Given the description of an element on the screen output the (x, y) to click on. 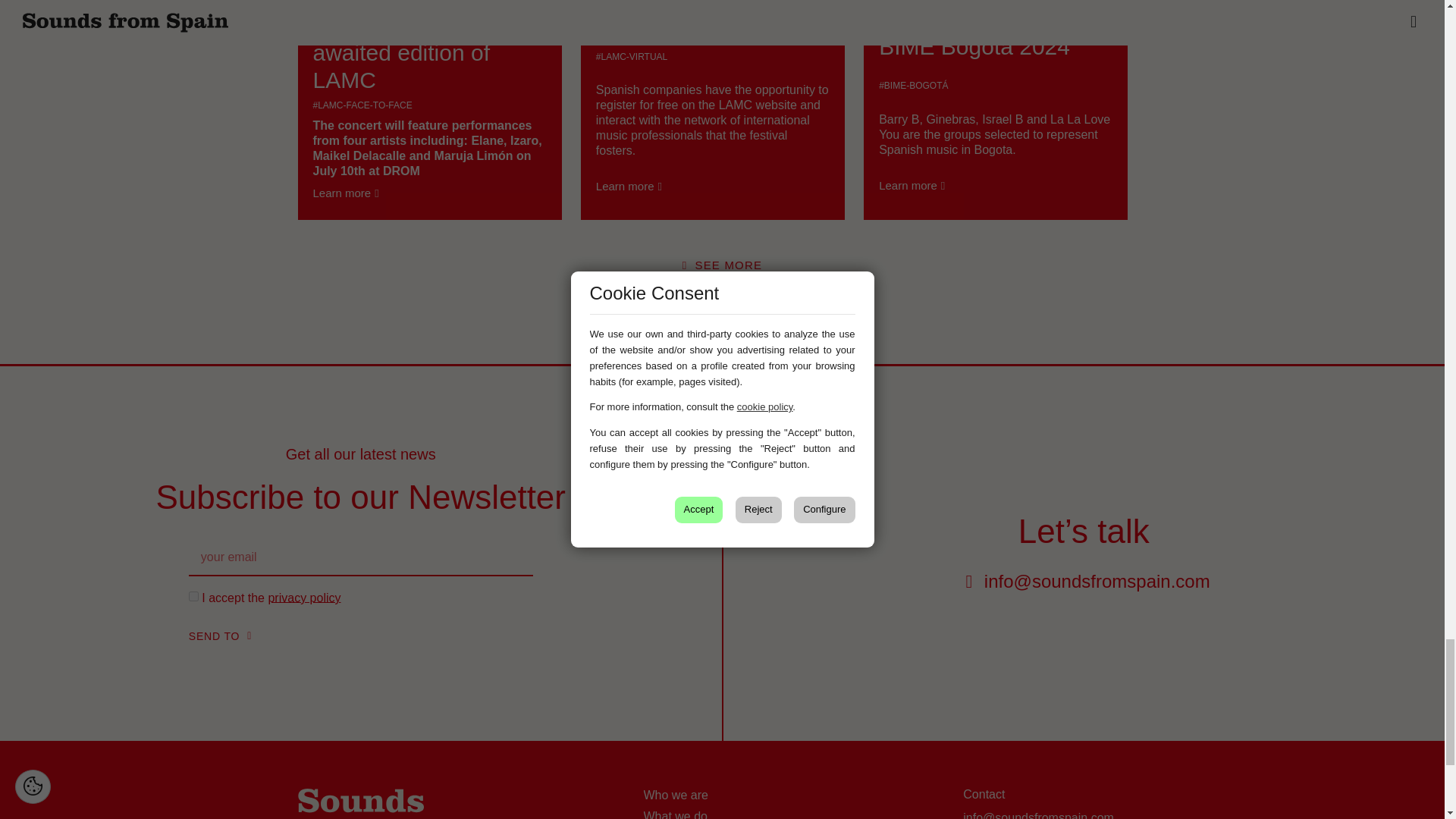
Sounds from Spain at LAMC Virtual 2024 (712, 15)
Sounds from Spain band selection at BIME Bogota 2024 (995, 30)
Learn more (911, 185)
on (193, 596)
Learn more (628, 186)
Learn more (345, 193)
